Given the description of an element on the screen output the (x, y) to click on. 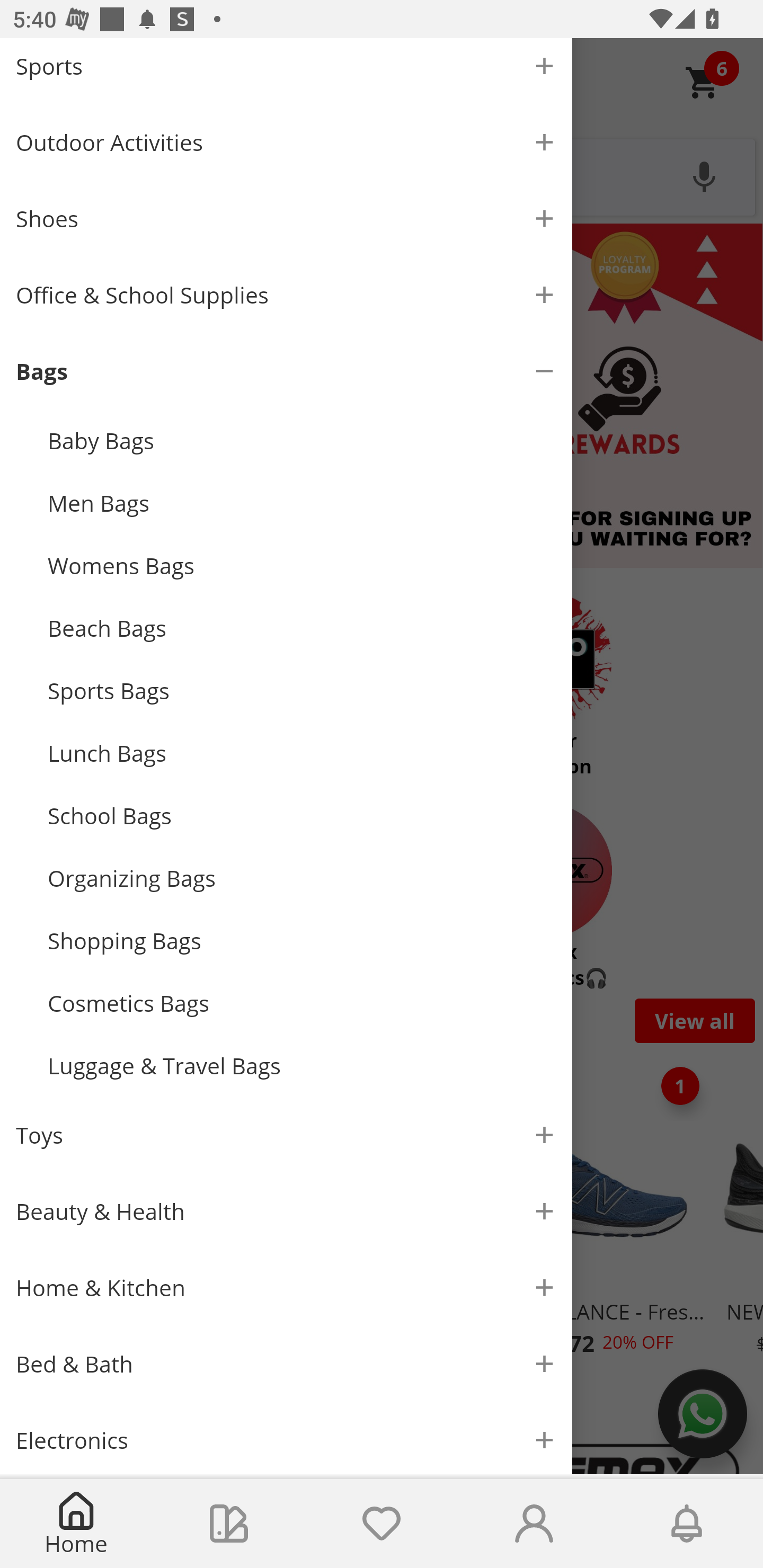
Sports (286, 71)
Outdoor Activities (286, 142)
Shoes (286, 218)
Office & School Supplies (286, 294)
Baby Bags (302, 440)
Men Bags (302, 502)
Womens Bags (302, 565)
Beach Bags (302, 628)
Sports Bags (302, 690)
Lunch Bags (302, 752)
School Bags (302, 815)
Organizing Bags (302, 877)
Shopping Bags (302, 940)
Cosmetics Bags (302, 1003)
Luggage & Travel Bags (302, 1065)
Toys (286, 1134)
Beauty & Health (286, 1210)
Home & Kitchen (286, 1287)
Bed & Bath (286, 1363)
Electronics (286, 1437)
Collections (228, 1523)
Wishlist (381, 1523)
Account (533, 1523)
Notifications (686, 1523)
